Given the description of an element on the screen output the (x, y) to click on. 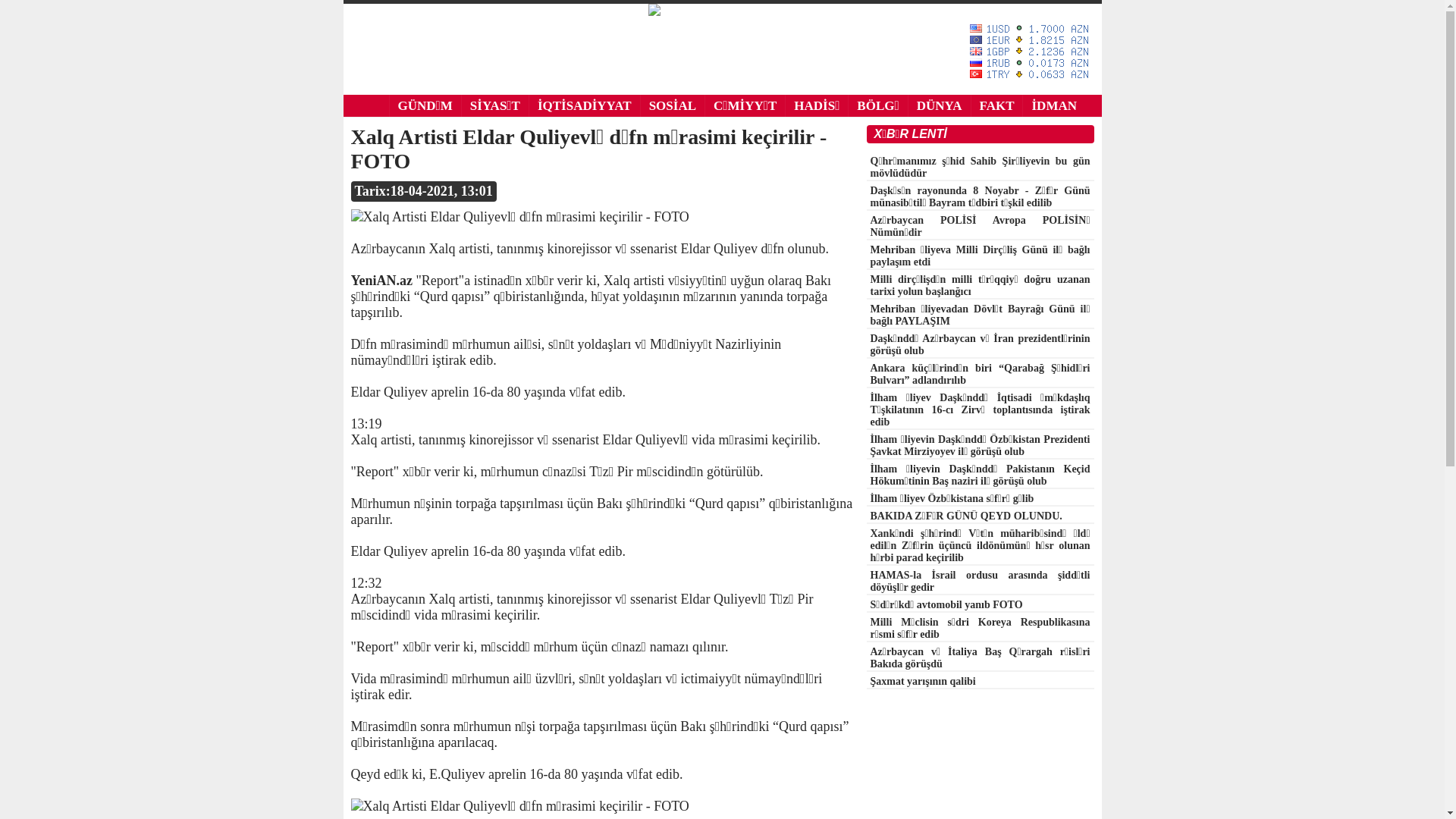
FAKT Element type: text (996, 105)
VIDEO Element type: text (513, 127)
SOSIAL Element type: text (672, 105)
